Given the description of an element on the screen output the (x, y) to click on. 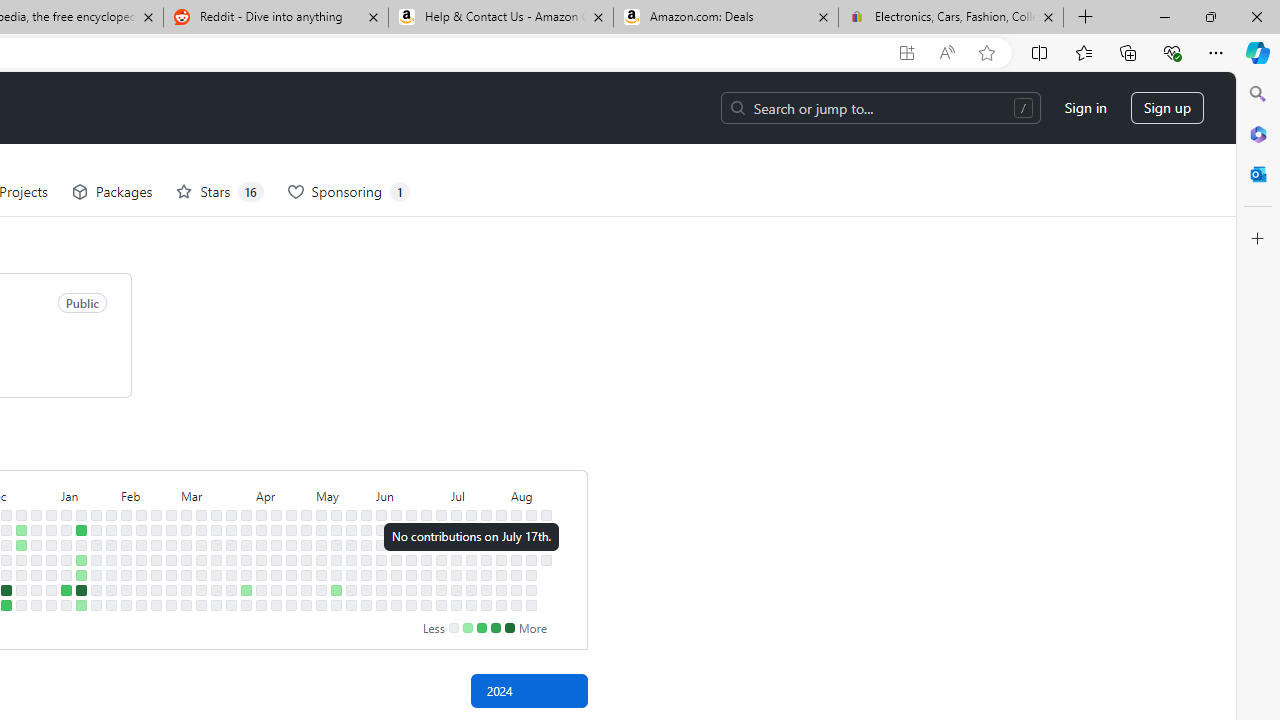
No contributions on December 22nd. (20, 589)
No contributions on February 15th. (141, 574)
No contributions on February 14th. (141, 559)
No contributions on May 9th. (321, 574)
No contributions on July 11th. (456, 574)
1 contribution on January 20th. (81, 605)
No contributions on March 16th. (201, 605)
No contributions on April 12th. (261, 589)
No contributions on April 22nd. (290, 529)
No contributions on August 15th. (531, 574)
No contributions on August 17th. (531, 605)
No contributions on June 27th. (426, 574)
No contributions on February 6th. (126, 544)
